Given the description of an element on the screen output the (x, y) to click on. 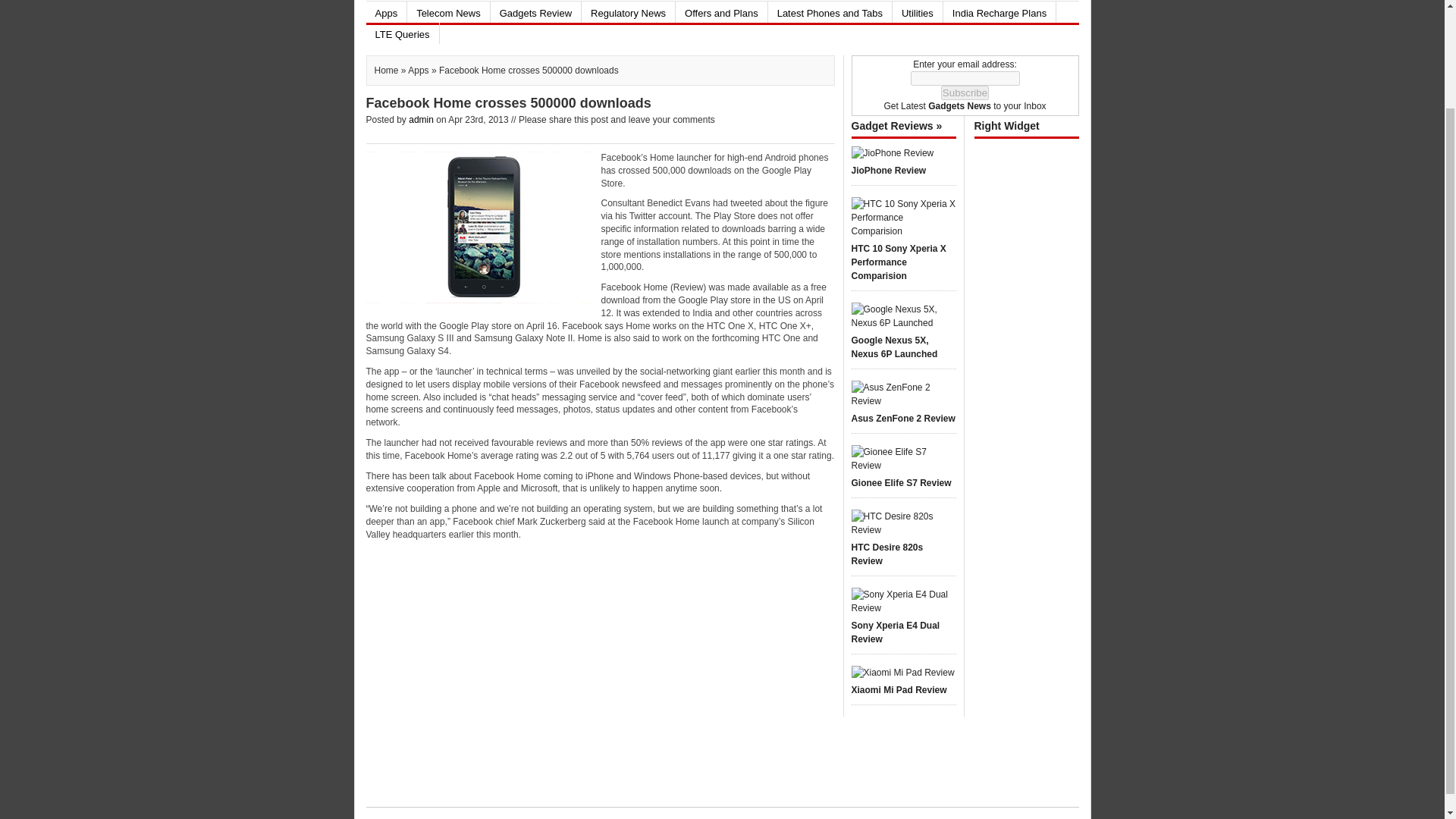
Telecom News (448, 11)
Regulatory News (627, 11)
Utilities (917, 11)
Posts by admin (421, 119)
Gadgets Review (535, 11)
Latest Phones and Tabs (829, 11)
Facebook-Home (478, 227)
Offers and Plans (721, 11)
Apps (385, 11)
India Recharge Plans (999, 11)
Subscribe (964, 92)
